Given the description of an element on the screen output the (x, y) to click on. 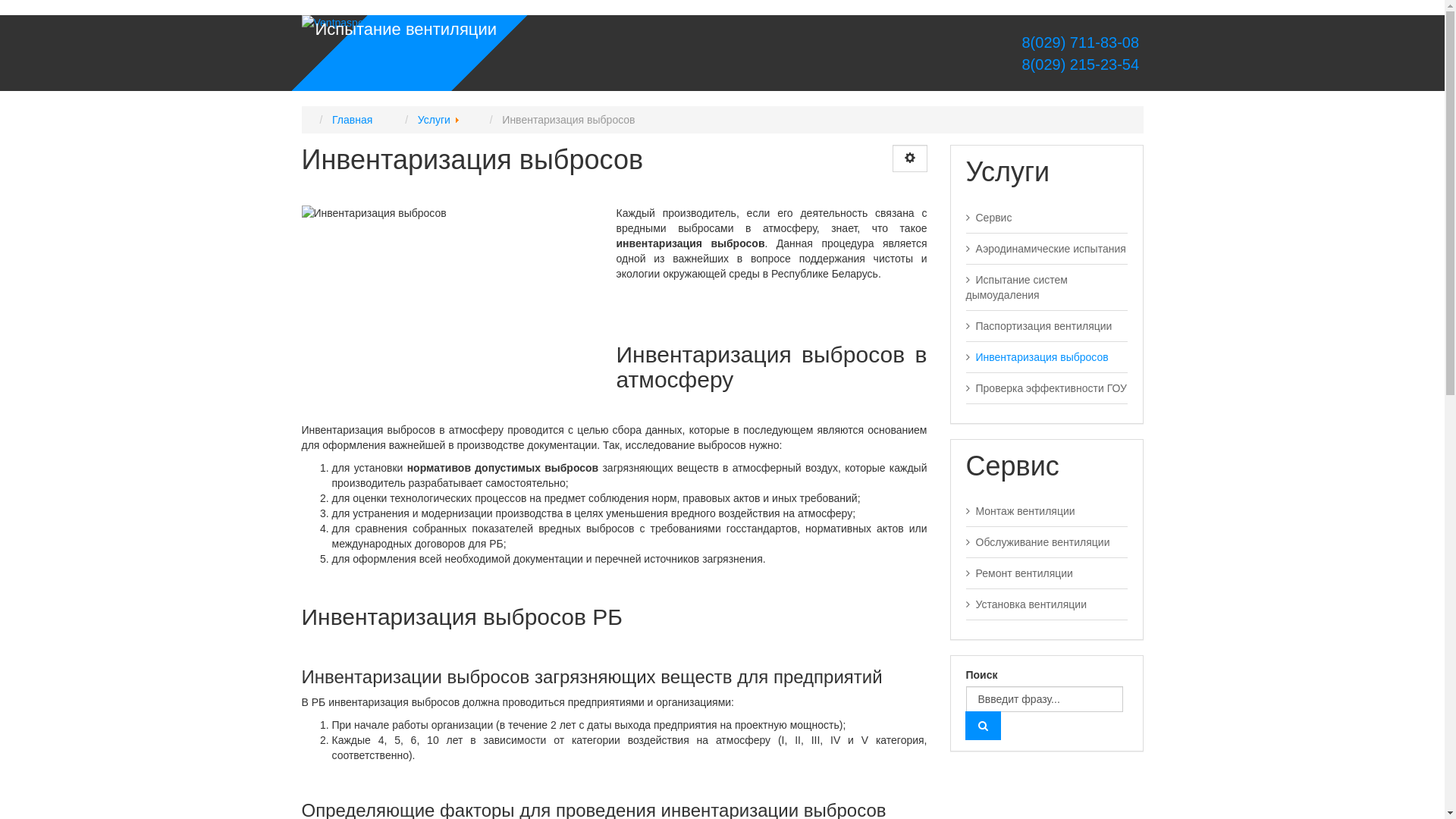
8(029) 711-83-08 Element type: text (1080, 42)
8(029) 215-23-54 Element type: text (1080, 64)
